Given the description of an element on the screen output the (x, y) to click on. 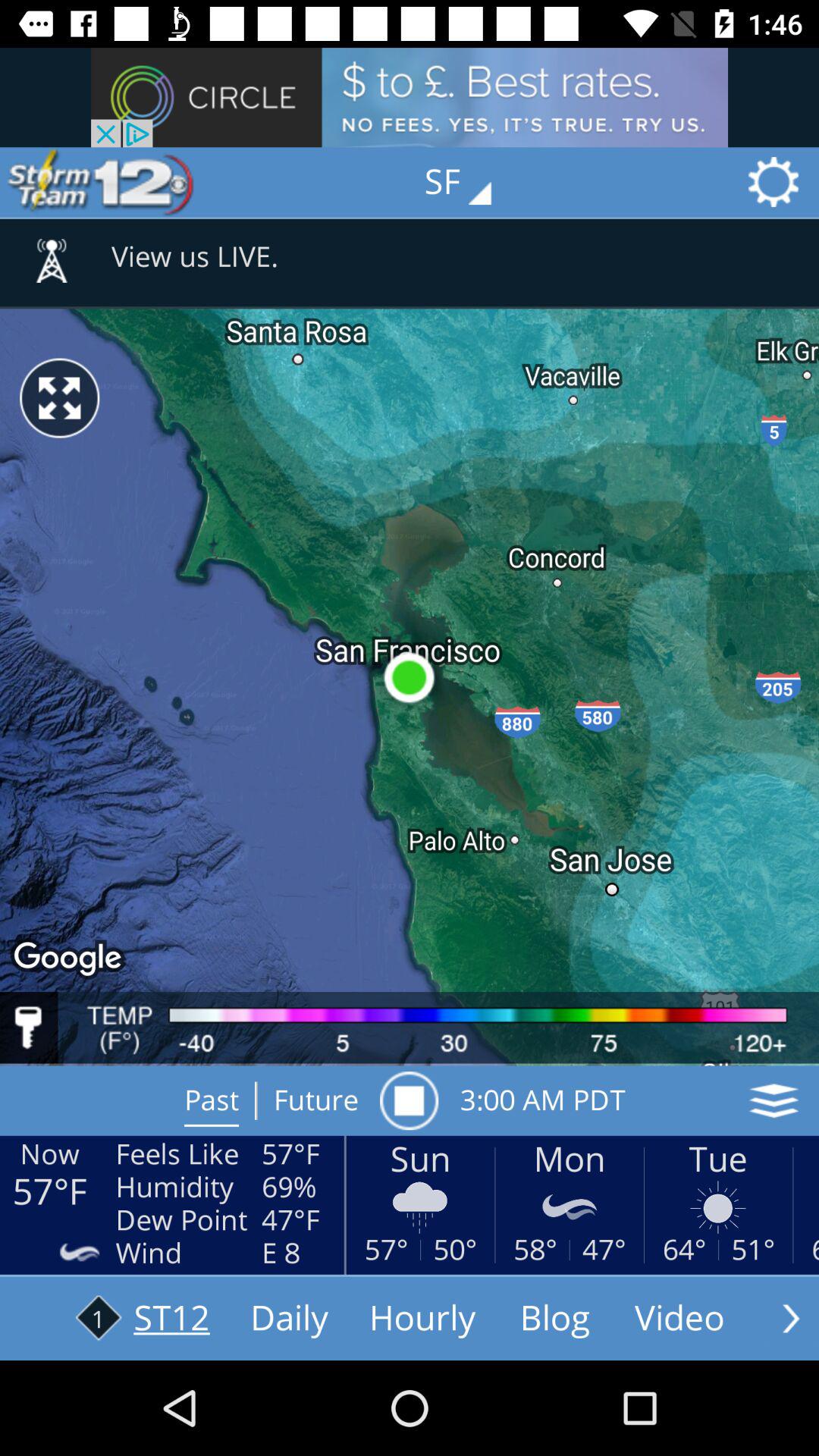
tap item next to the 4 00 am (409, 1100)
